Given the description of an element on the screen output the (x, y) to click on. 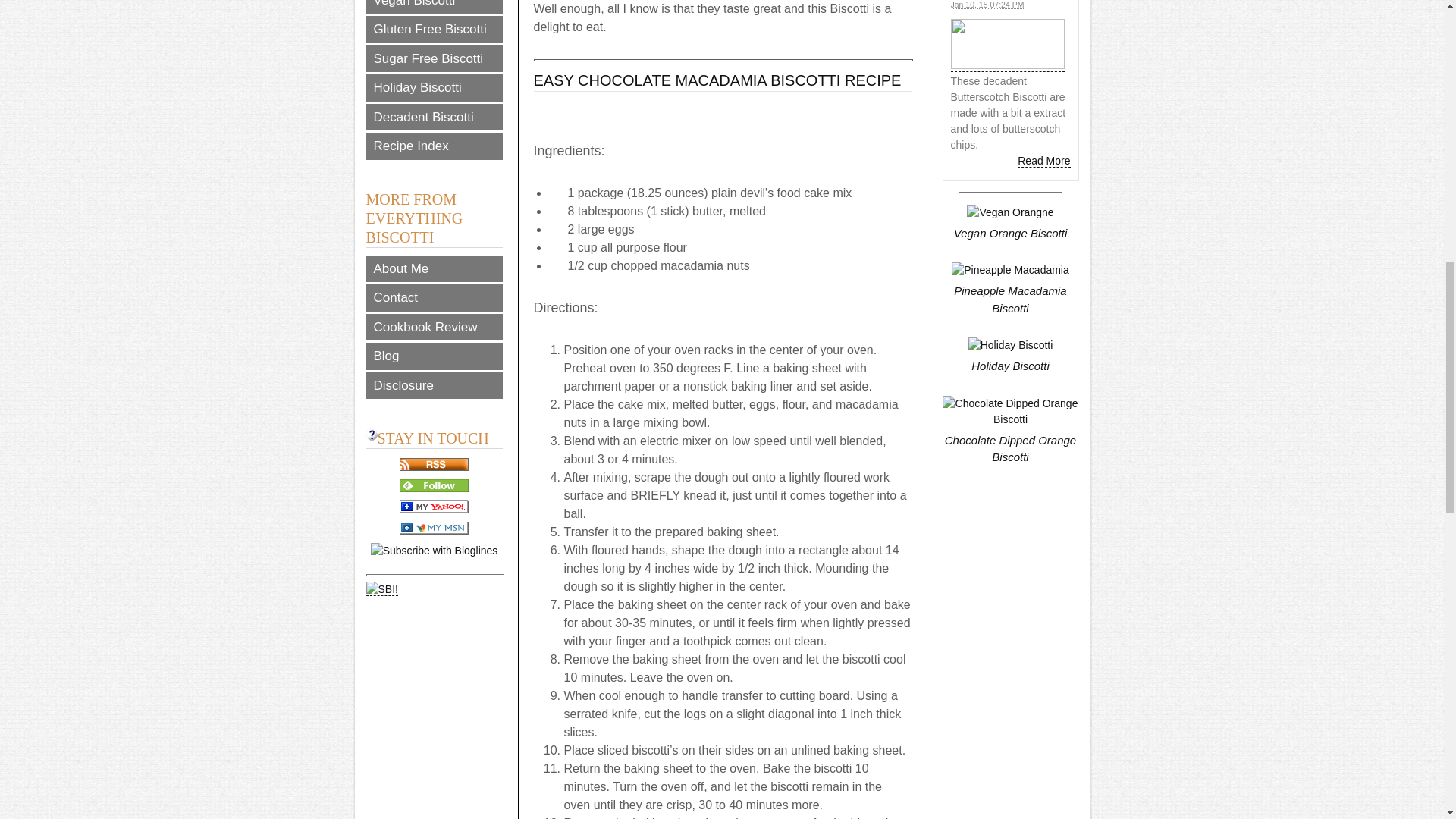
Disclosure (433, 384)
Cookbook Review (433, 327)
Decadent Biscotti (433, 116)
Blog (433, 356)
Go to Vegan Orange Biscotti (1010, 224)
Holiday Biscotti (1010, 344)
Contact (433, 298)
About Me (433, 267)
Gluten Free Biscotti (433, 29)
Pineapple Macadamia (1010, 270)
Sugar Free Biscotti (433, 58)
Recipe Index (433, 145)
Vegan Orangne (1009, 212)
Holiday Biscotti (433, 87)
Go to Holiday Biscotti (1010, 357)
